Given the description of an element on the screen output the (x, y) to click on. 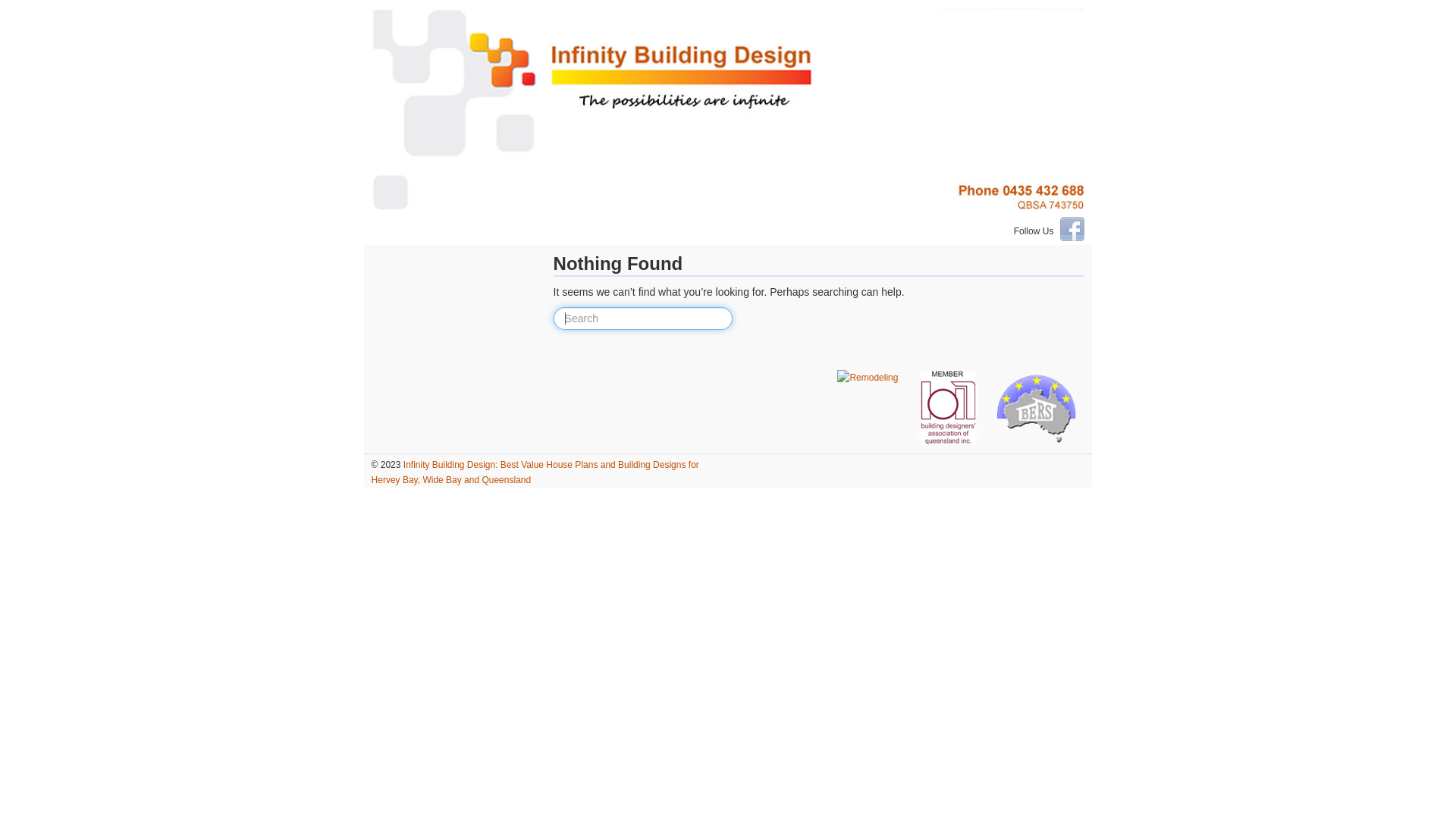
Search Element type: text (22, 9)
Facebook Element type: text (1072, 228)
